Given the description of an element on the screen output the (x, y) to click on. 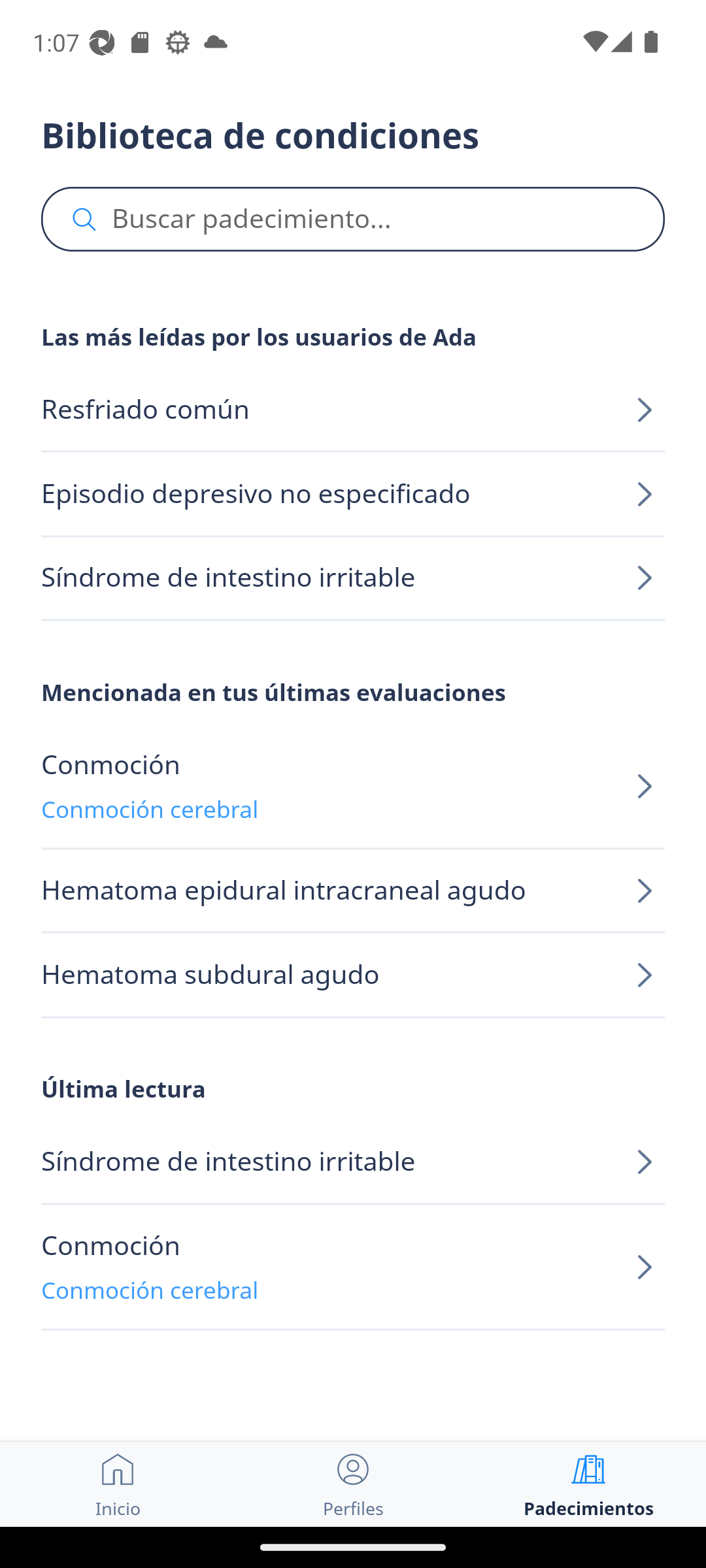
Buscar padecimiento... (352, 219)
Resfriado común (352, 409)
Episodio depresivo no especificado (352, 494)
Síndrome de intestino irritable (352, 578)
Conmoción Conmoción cerebral (352, 786)
Hematoma epidural intracraneal agudo (352, 890)
Hematoma subdural agudo (352, 974)
Síndrome de intestino irritable (352, 1162)
Conmoción Conmoción cerebral (352, 1266)
Inicio (117, 1484)
Perfiles (352, 1484)
Padecimientos (588, 1484)
